Given the description of an element on the screen output the (x, y) to click on. 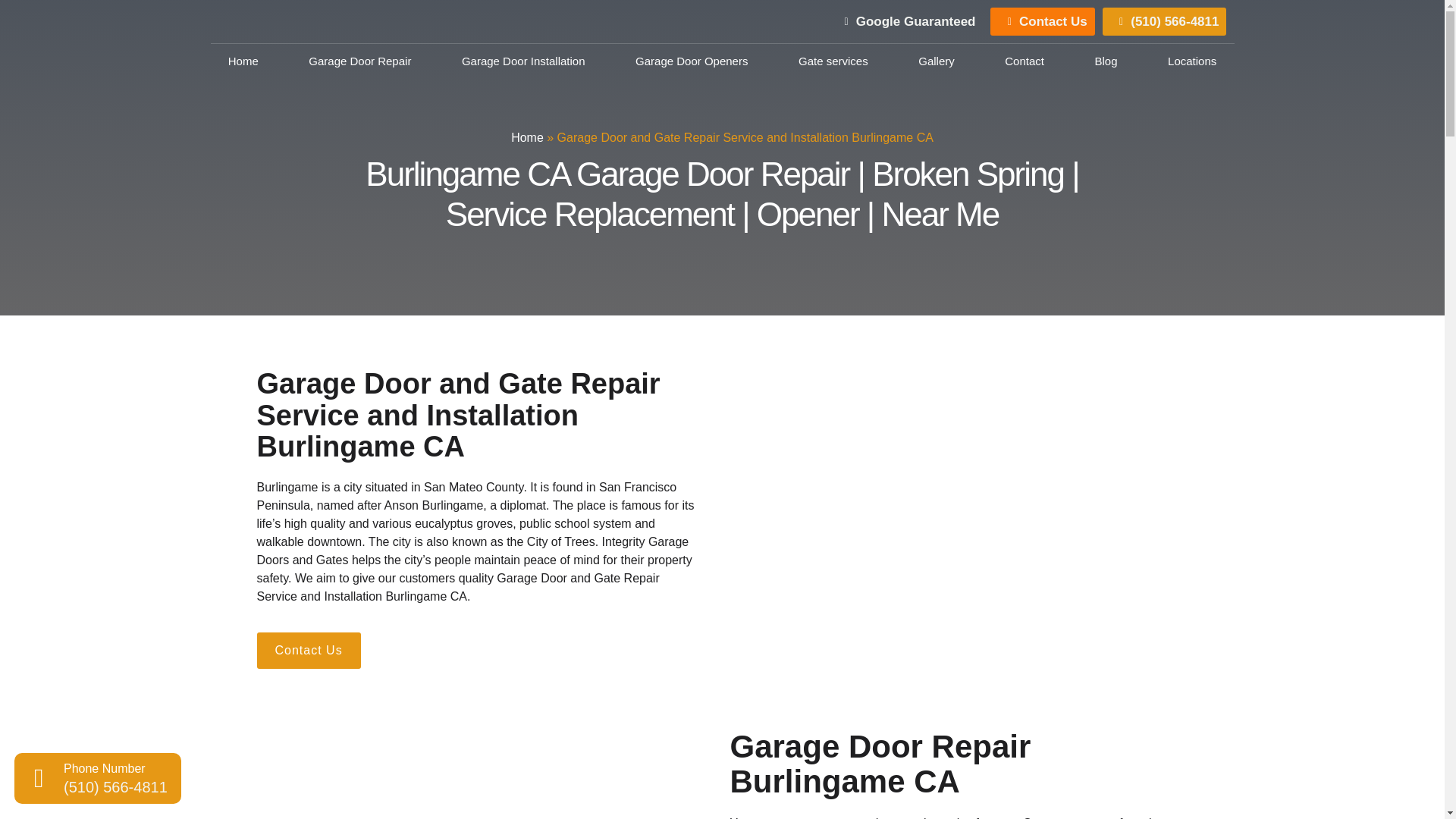
Garage Door Installation (523, 61)
Home (243, 61)
Garage Door Repair (360, 61)
Contact Us (1041, 21)
